Given the description of an element on the screen output the (x, y) to click on. 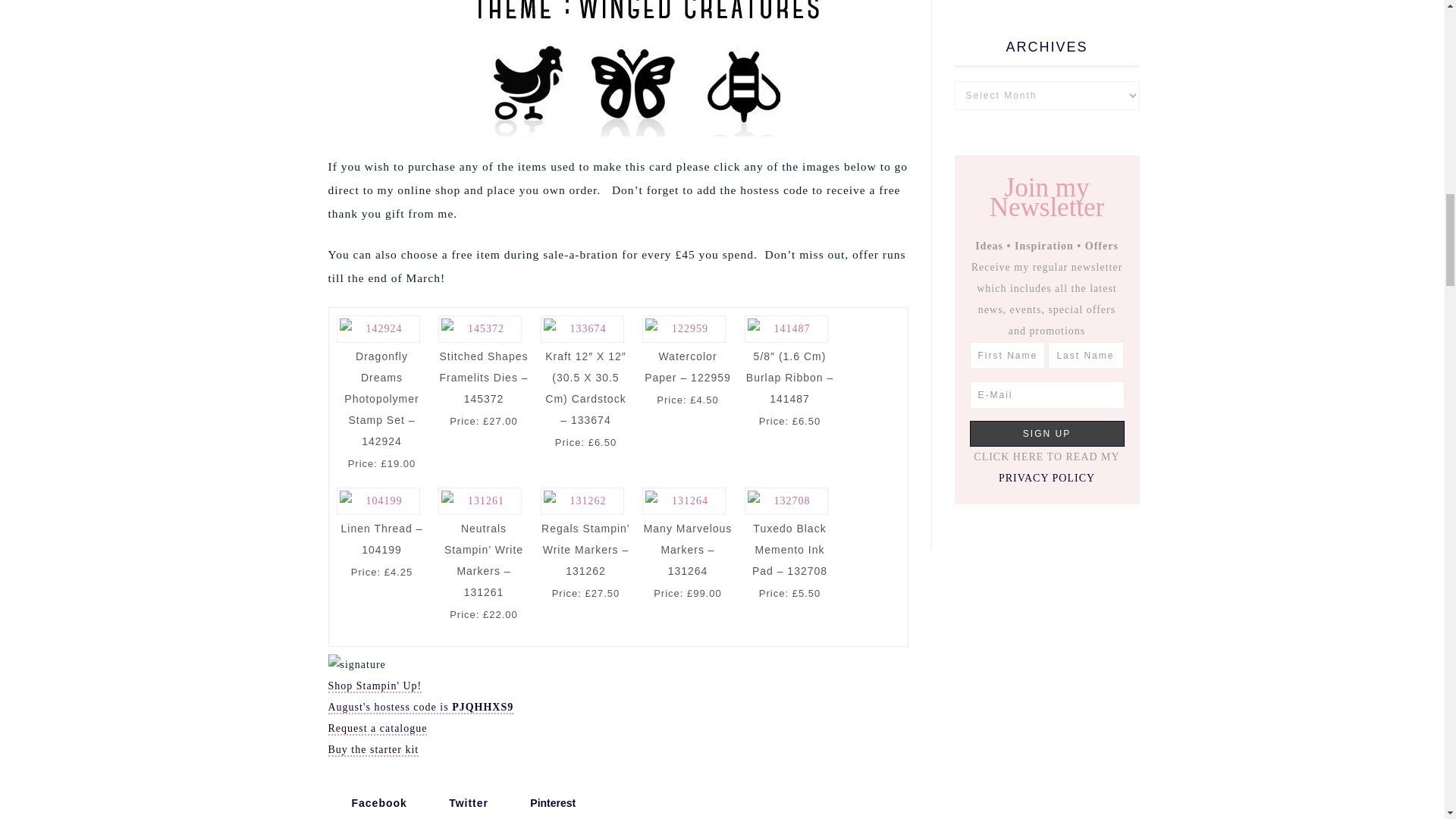
Save to Pinterest (544, 802)
Share on X (460, 802)
Share on Facebook (370, 802)
sign up (1046, 432)
